Given the description of an element on the screen output the (x, y) to click on. 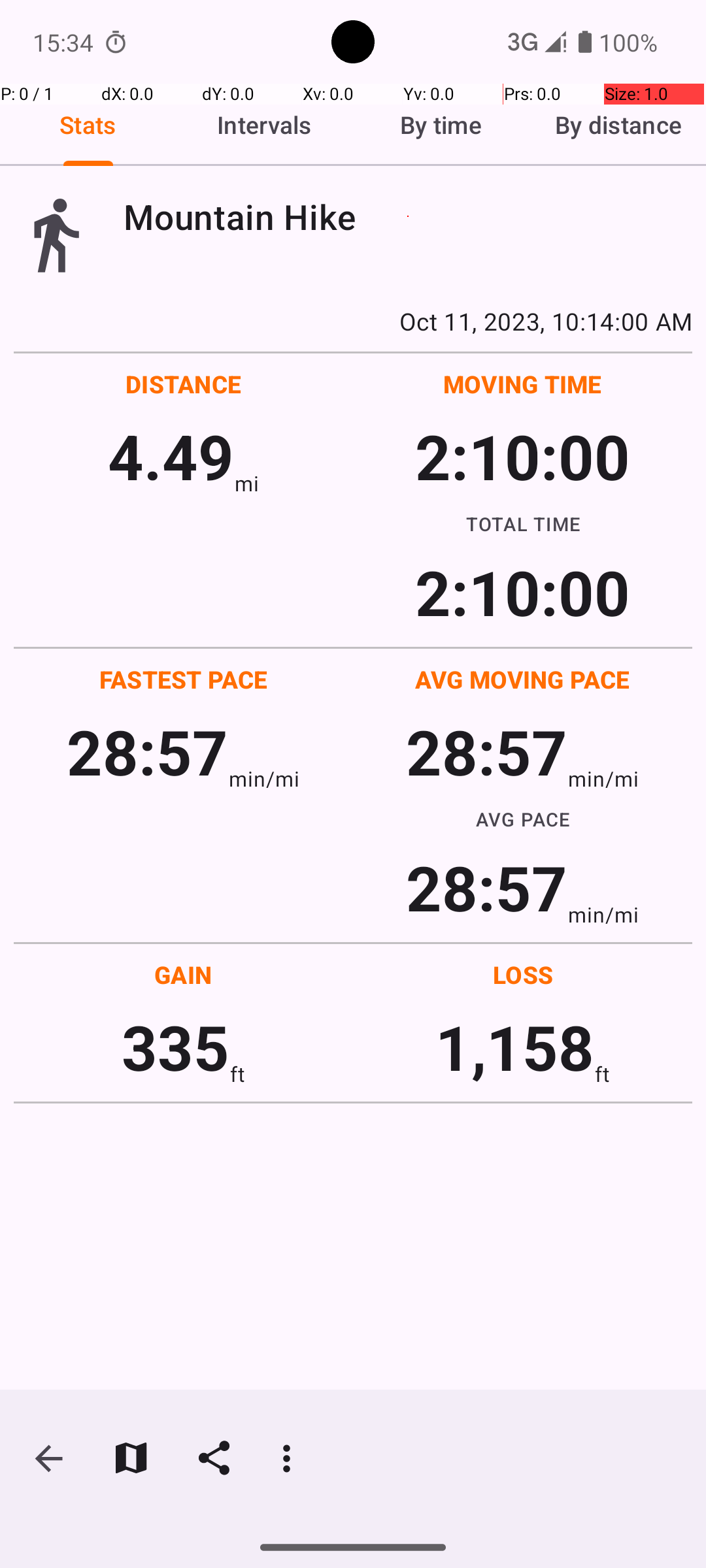
Mountain Hike Element type: android.widget.TextView (407, 216)
Oct 11, 2023, 10:14:00 AM Element type: android.widget.TextView (352, 320)
4.49 Element type: android.widget.TextView (170, 455)
2:10:00 Element type: android.widget.TextView (522, 455)
FASTEST PACE Element type: android.widget.TextView (183, 678)
AVG MOVING PACE Element type: android.widget.TextView (522, 678)
28:57 Element type: android.widget.TextView (147, 750)
min/mi Element type: android.widget.TextView (264, 778)
AVG PACE Element type: android.widget.TextView (522, 818)
335 Element type: android.widget.TextView (175, 1045)
1,158 Element type: android.widget.TextView (514, 1045)
